Given the description of an element on the screen output the (x, y) to click on. 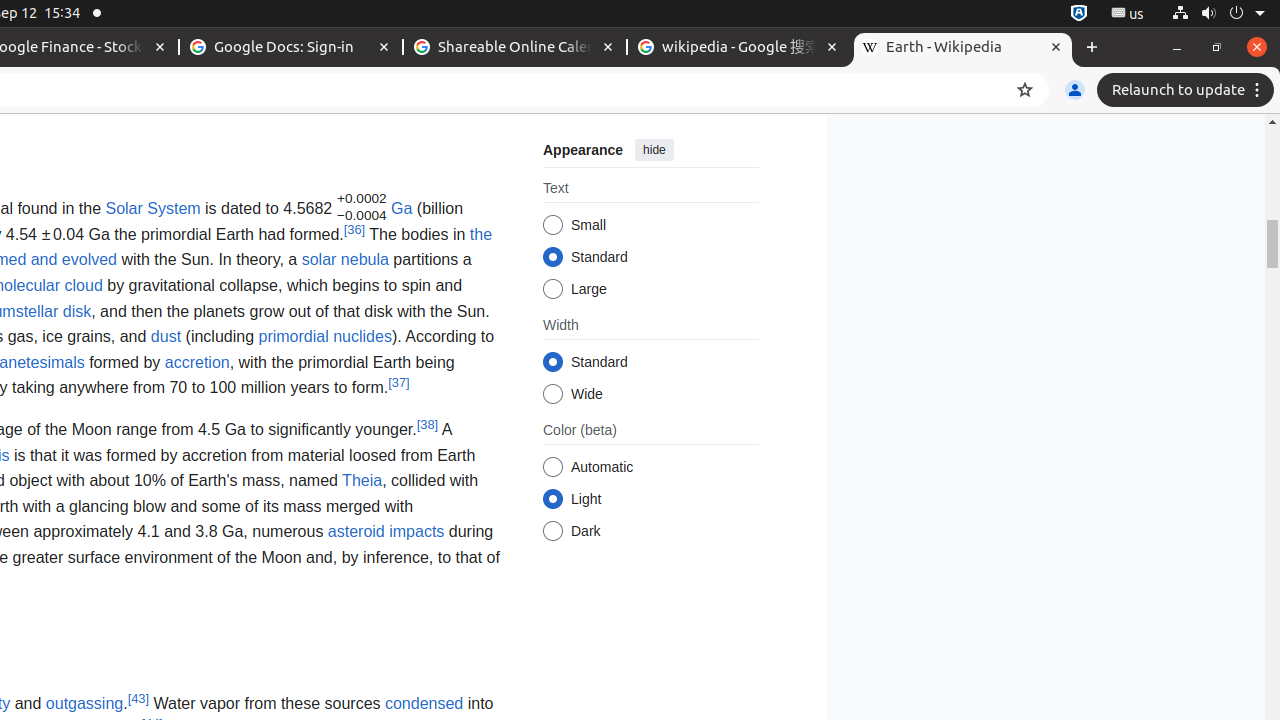
You Element type: push-button (1075, 90)
dust Element type: link (166, 337)
primordial nuclides Element type: link (325, 337)
Light Element type: radio-button (552, 499)
Theia Element type: link (362, 481)
